Given the description of an element on the screen output the (x, y) to click on. 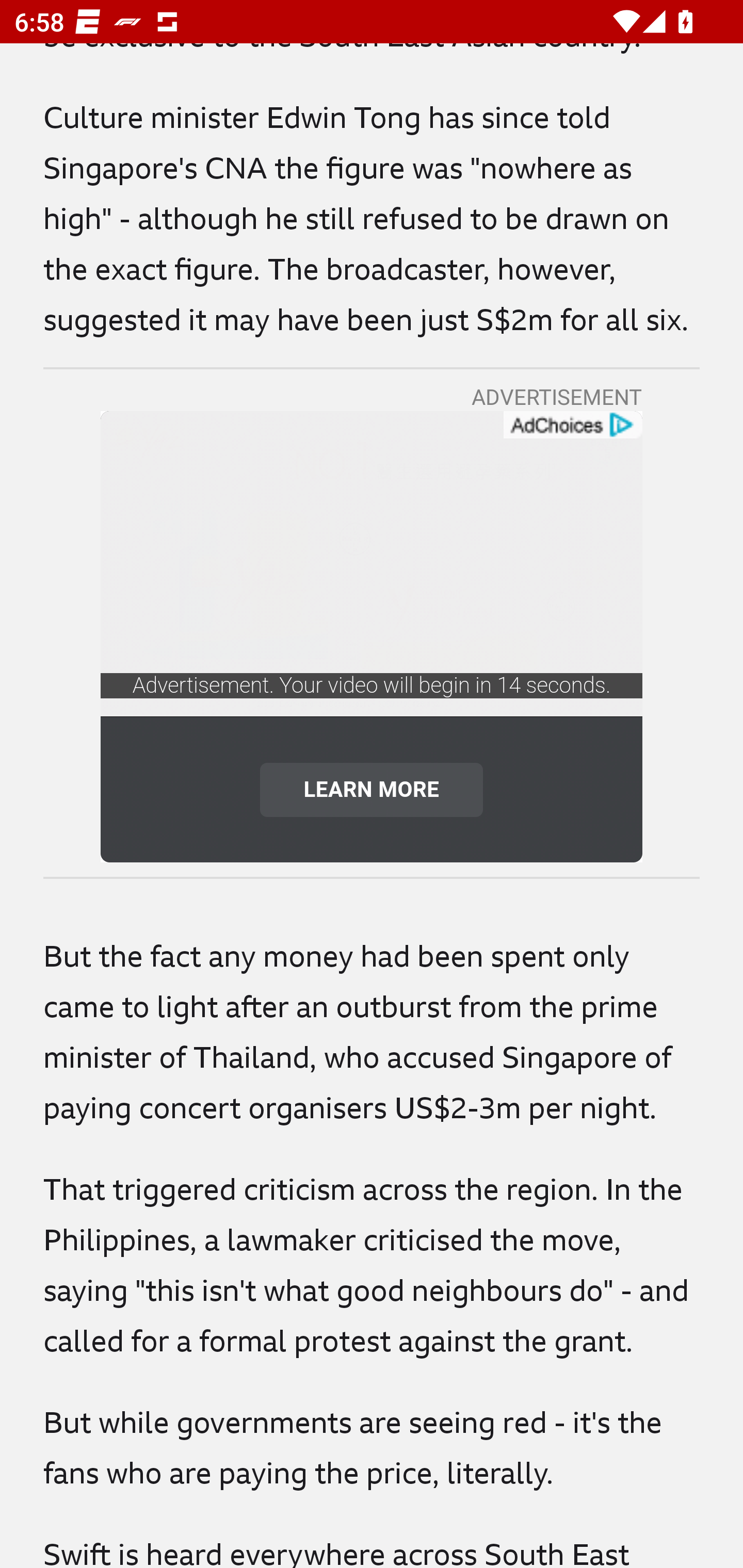
get?name=admarker-full-tl (571, 425)
LEARN MORE (371, 789)
